Given the description of an element on the screen output the (x, y) to click on. 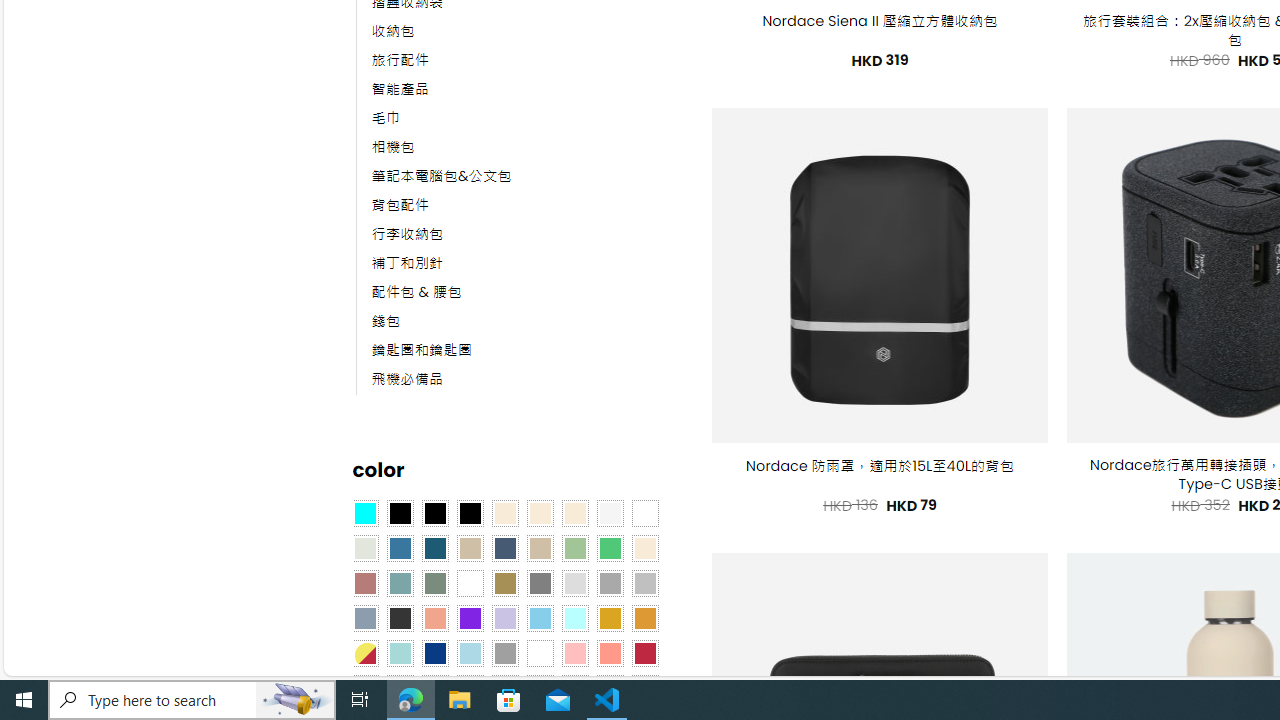
Cream (574, 514)
